Given the description of an element on the screen output the (x, y) to click on. 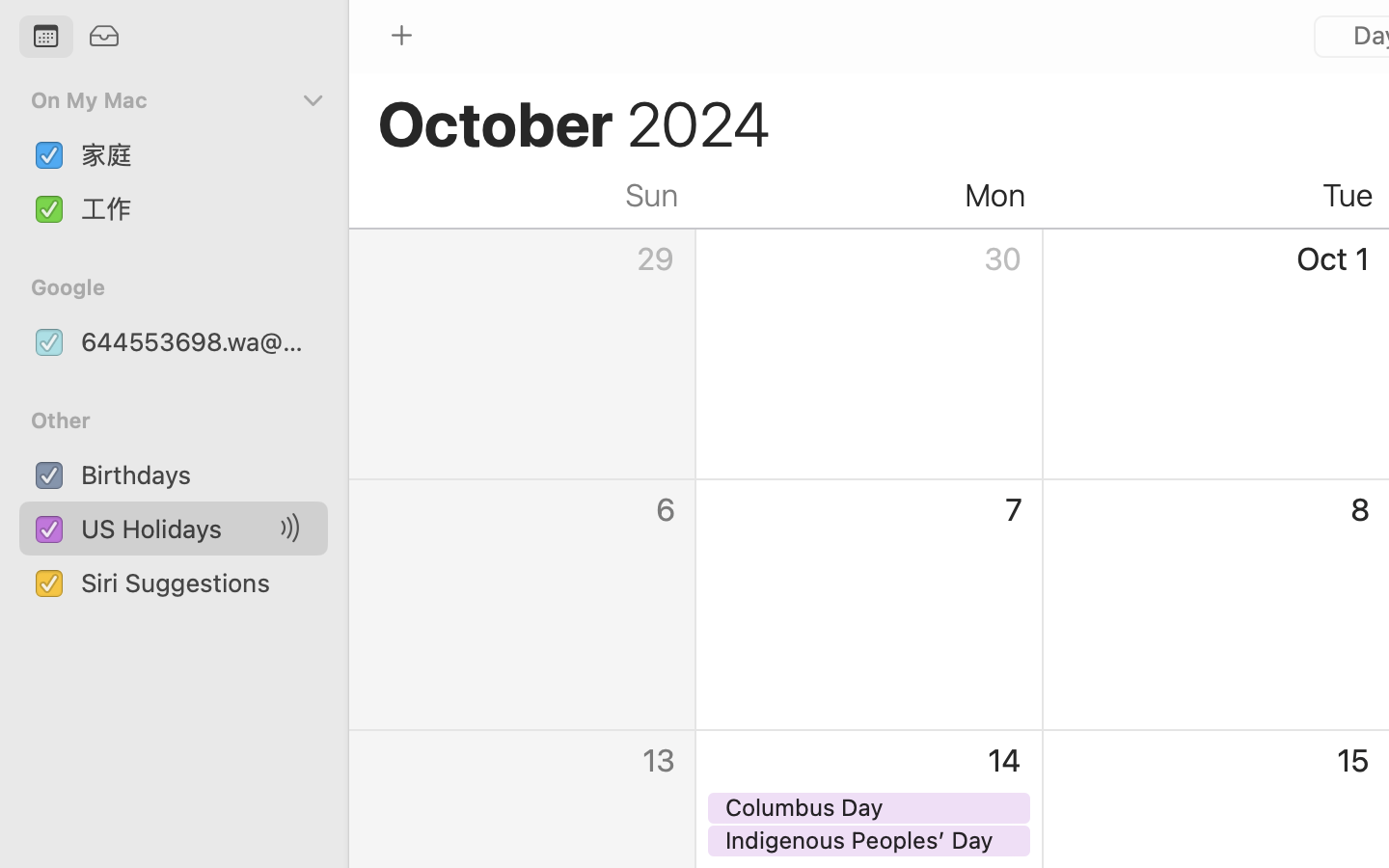
US Holidays Element type: AXTextField (177, 528)
Siri Suggestions Element type: AXStaticText (196, 582)
644553698.wa@gmail.com Element type: AXTextField (196, 340)
